Given the description of an element on the screen output the (x, y) to click on. 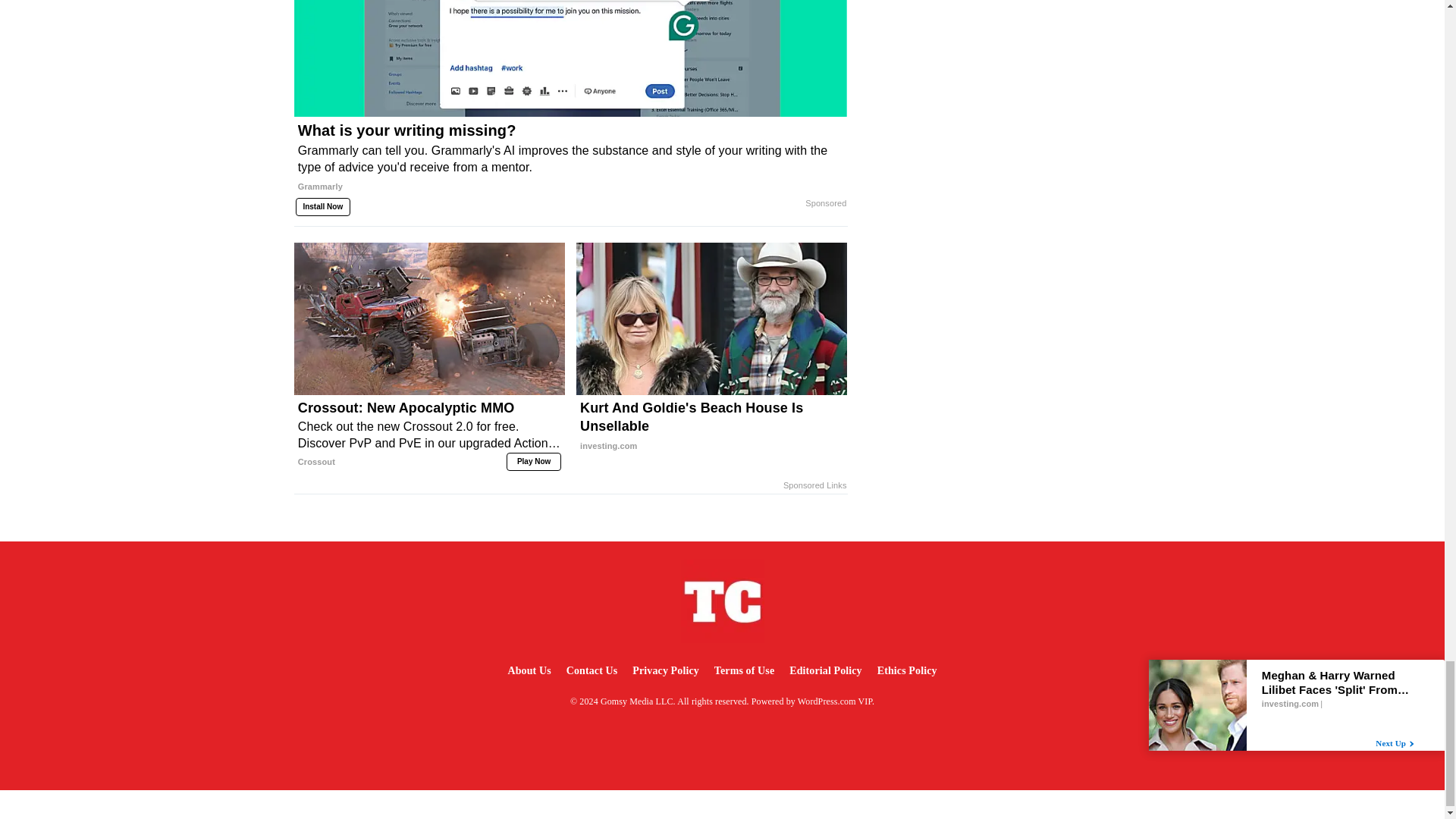
What is your writing missing? (570, 164)
Crossout: New Apocalyptic MMO (429, 434)
